Given the description of an element on the screen output the (x, y) to click on. 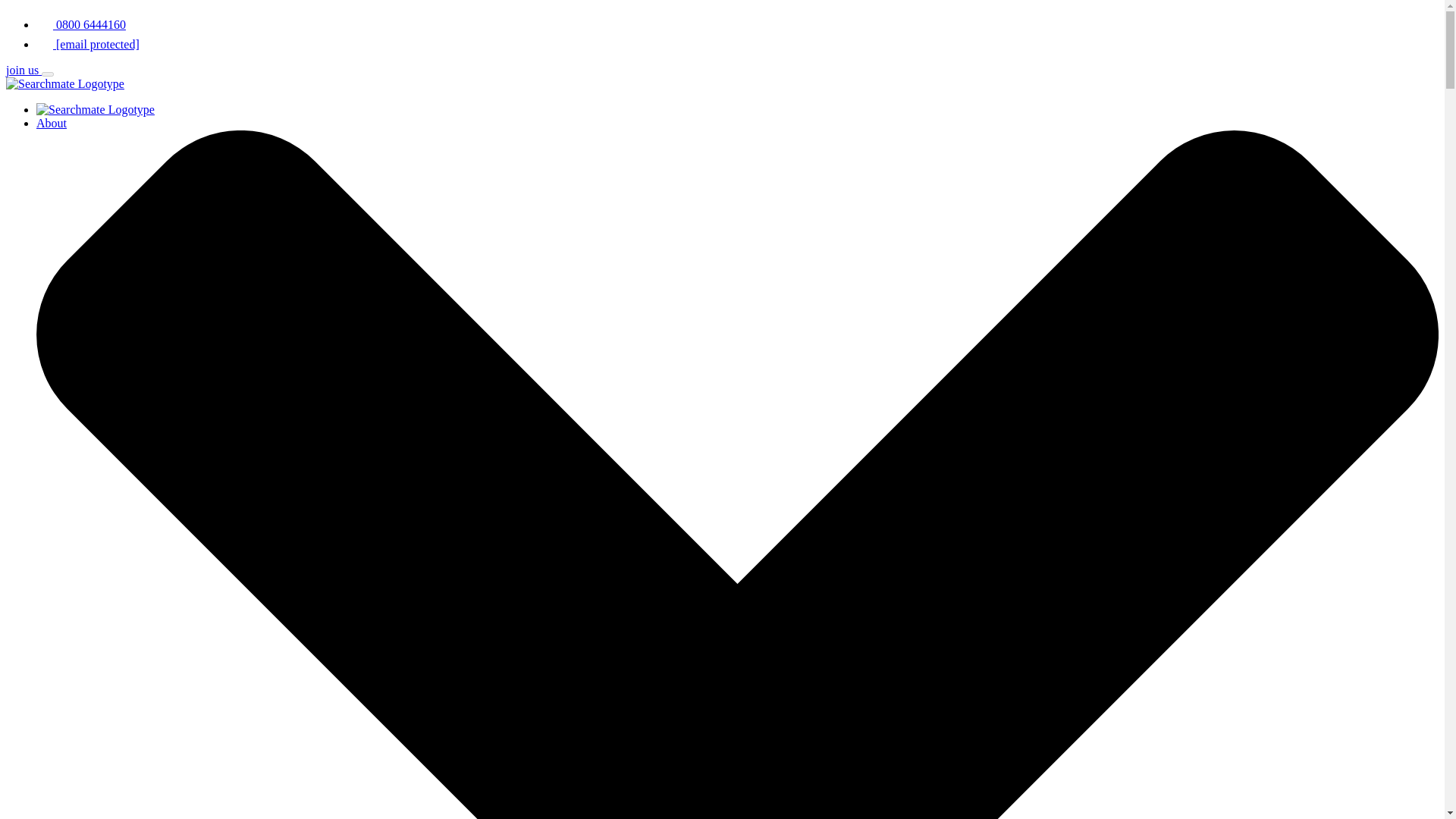
join us (23, 69)
0800 6444160 (80, 24)
